Given the description of an element on the screen output the (x, y) to click on. 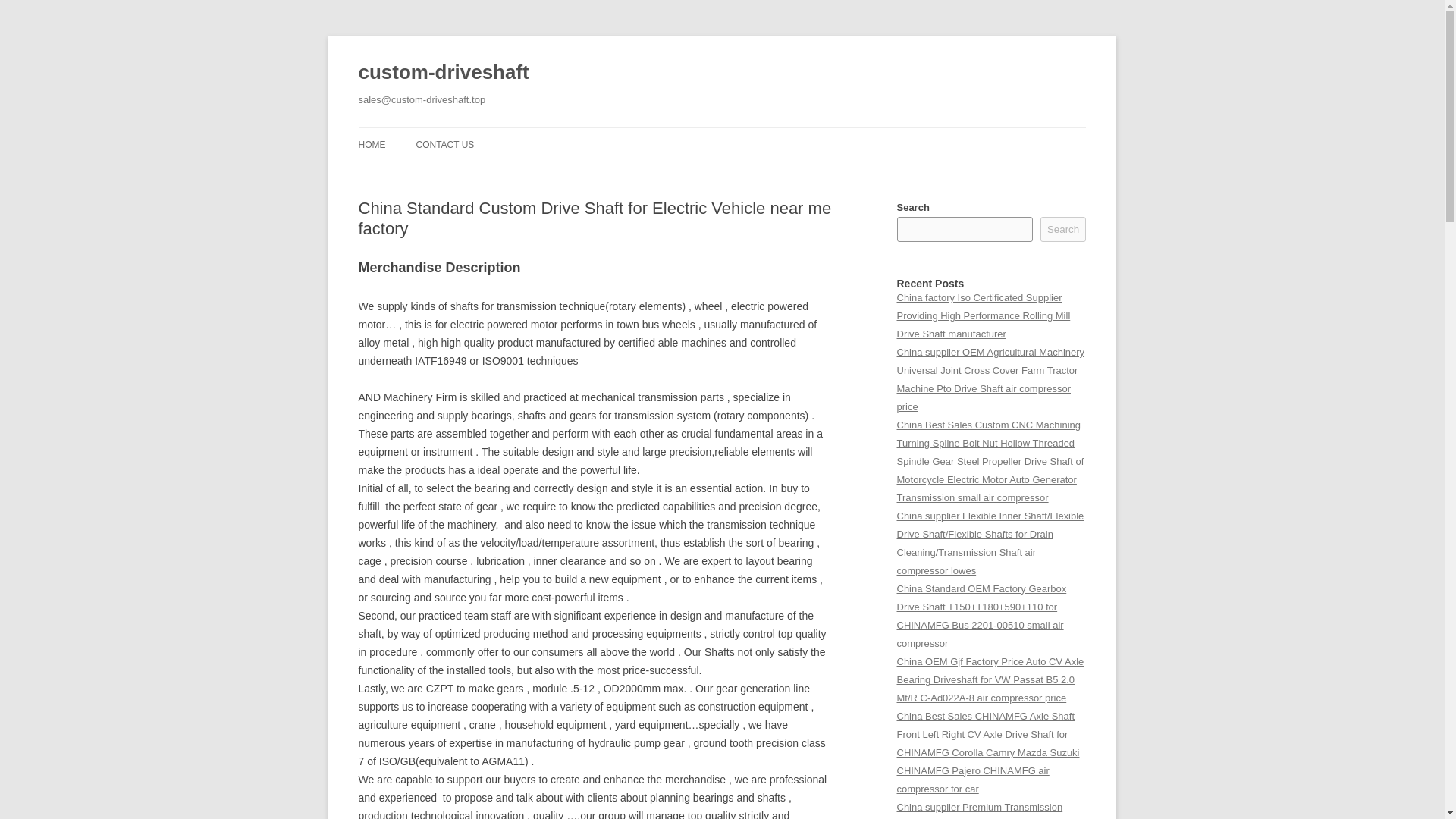
CONTACT US (444, 144)
custom-driveshaft (443, 72)
Search (1063, 229)
custom-driveshaft (443, 72)
